Given the description of an element on the screen output the (x, y) to click on. 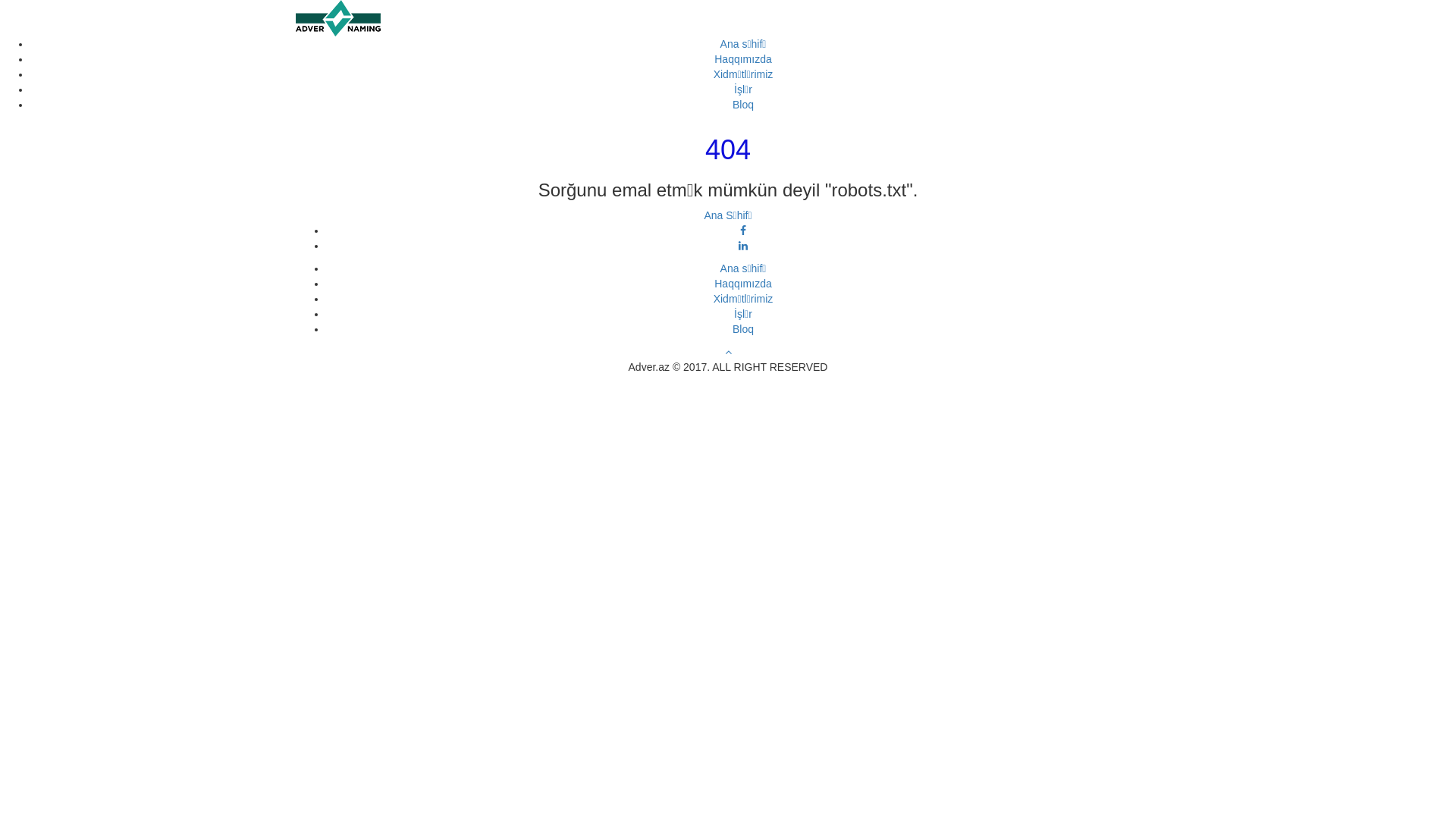
Bloq Element type: text (742, 329)
Bloq Element type: text (742, 104)
